Given the description of an element on the screen output the (x, y) to click on. 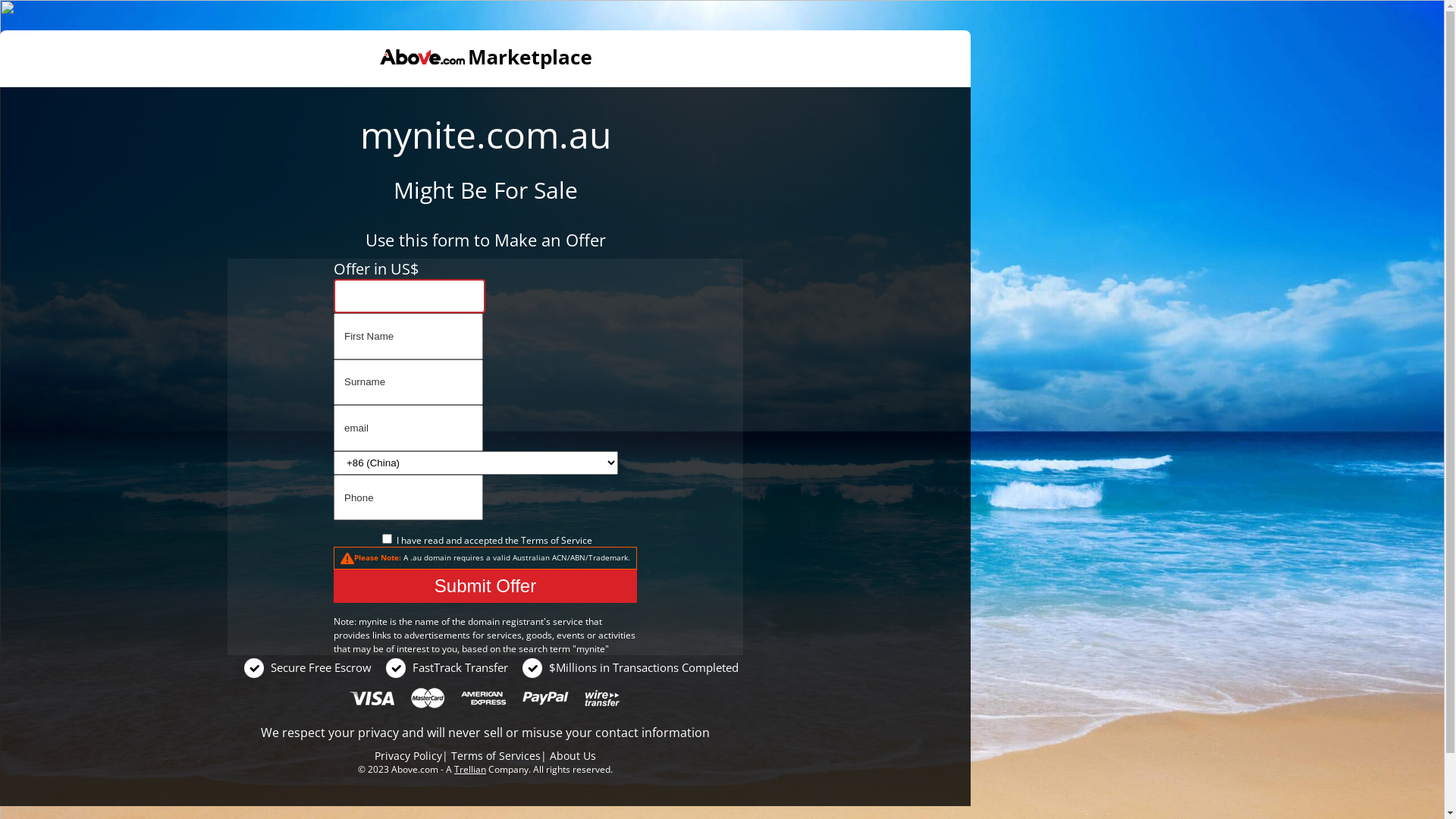
Terms of Services Element type: text (495, 755)
Privacy Policy Element type: text (408, 755)
Terms Element type: text (533, 539)
About Us Element type: text (572, 755)
Submit Offer Element type: text (485, 585)
Trellian Element type: text (470, 768)
